Given the description of an element on the screen output the (x, y) to click on. 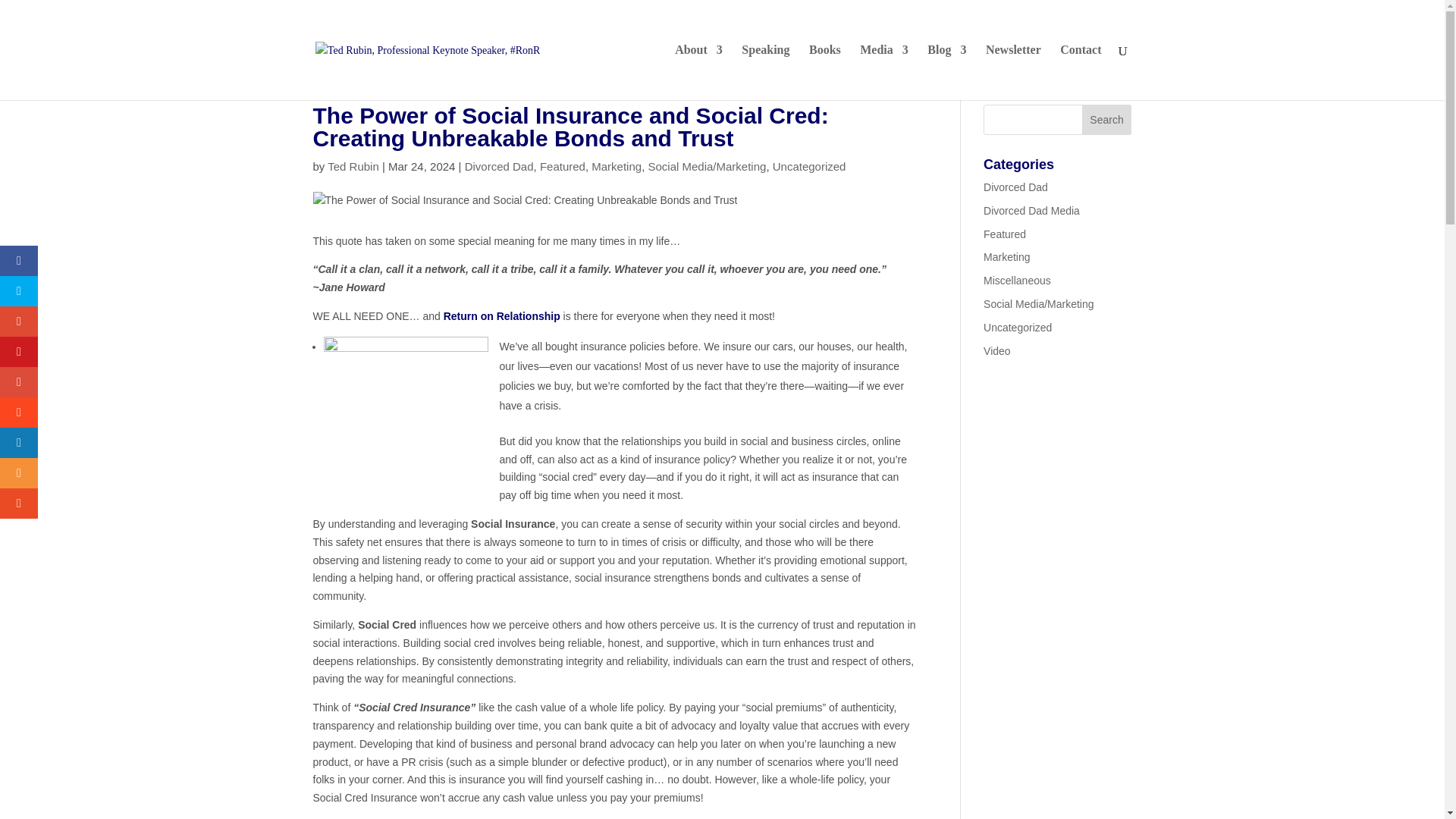
Featured (562, 165)
Posts by Ted Rubin (352, 165)
Divorced Dad (499, 165)
Search (1106, 119)
Ted Rubin (352, 165)
Return on Relationship (502, 316)
Uncategorized (809, 165)
Newsletter (1013, 72)
Marketing (616, 165)
